Given the description of an element on the screen output the (x, y) to click on. 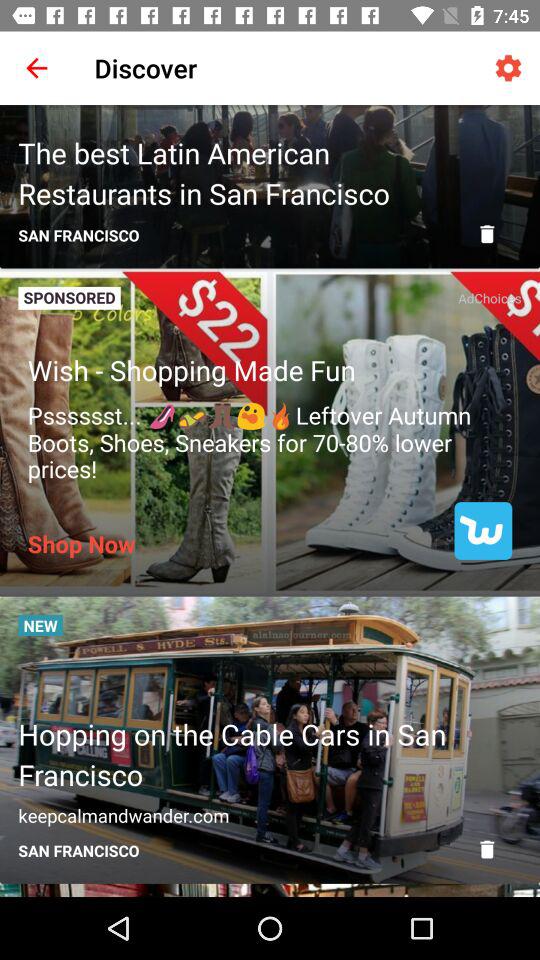
send to trash (487, 849)
